Given the description of an element on the screen output the (x, y) to click on. 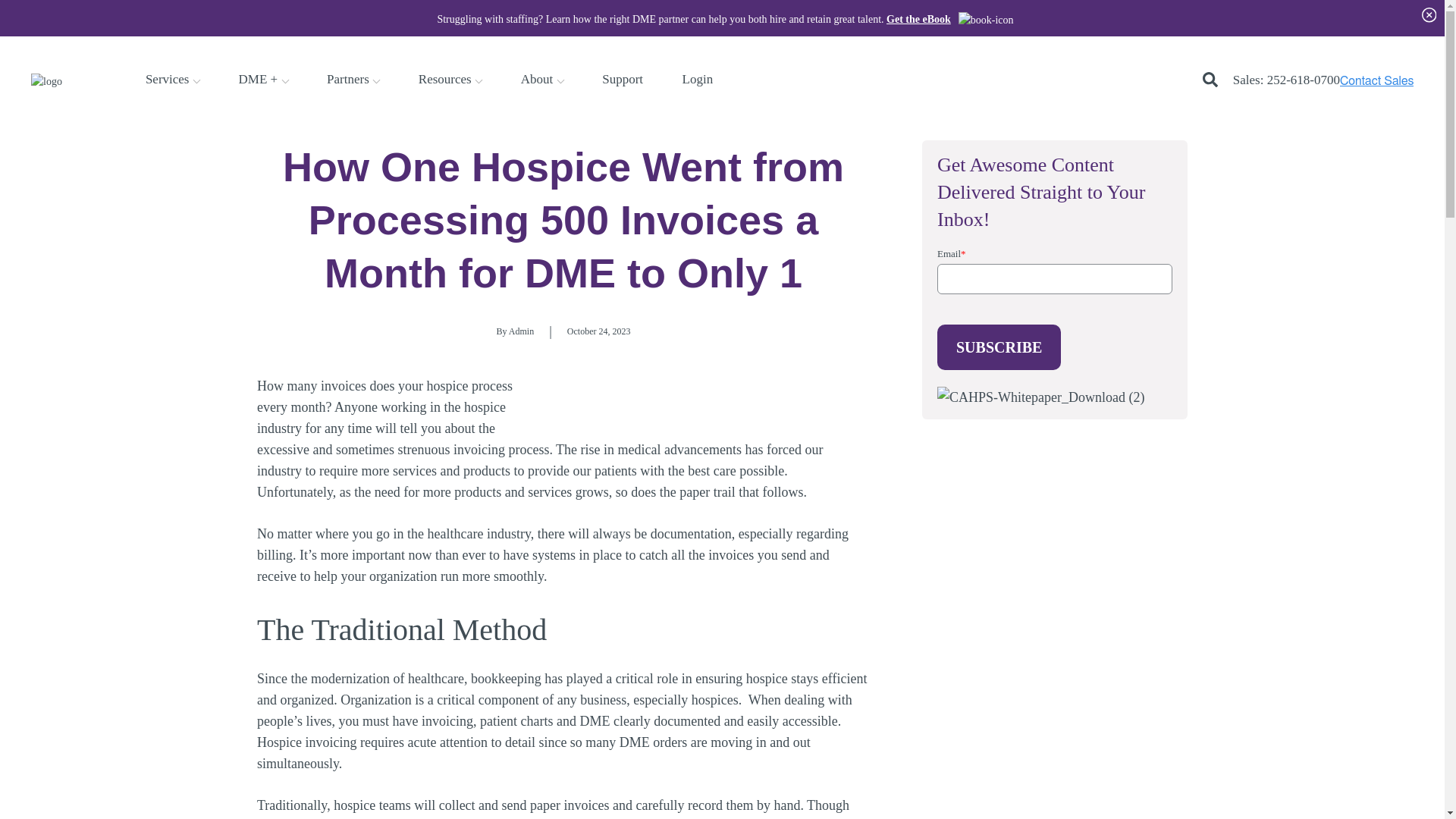
Login (697, 79)
Support (622, 79)
Subscribe (999, 347)
close (1428, 13)
logo (46, 81)
Services (167, 79)
Partners (347, 79)
Resources (445, 79)
About (537, 79)
